Given the description of an element on the screen output the (x, y) to click on. 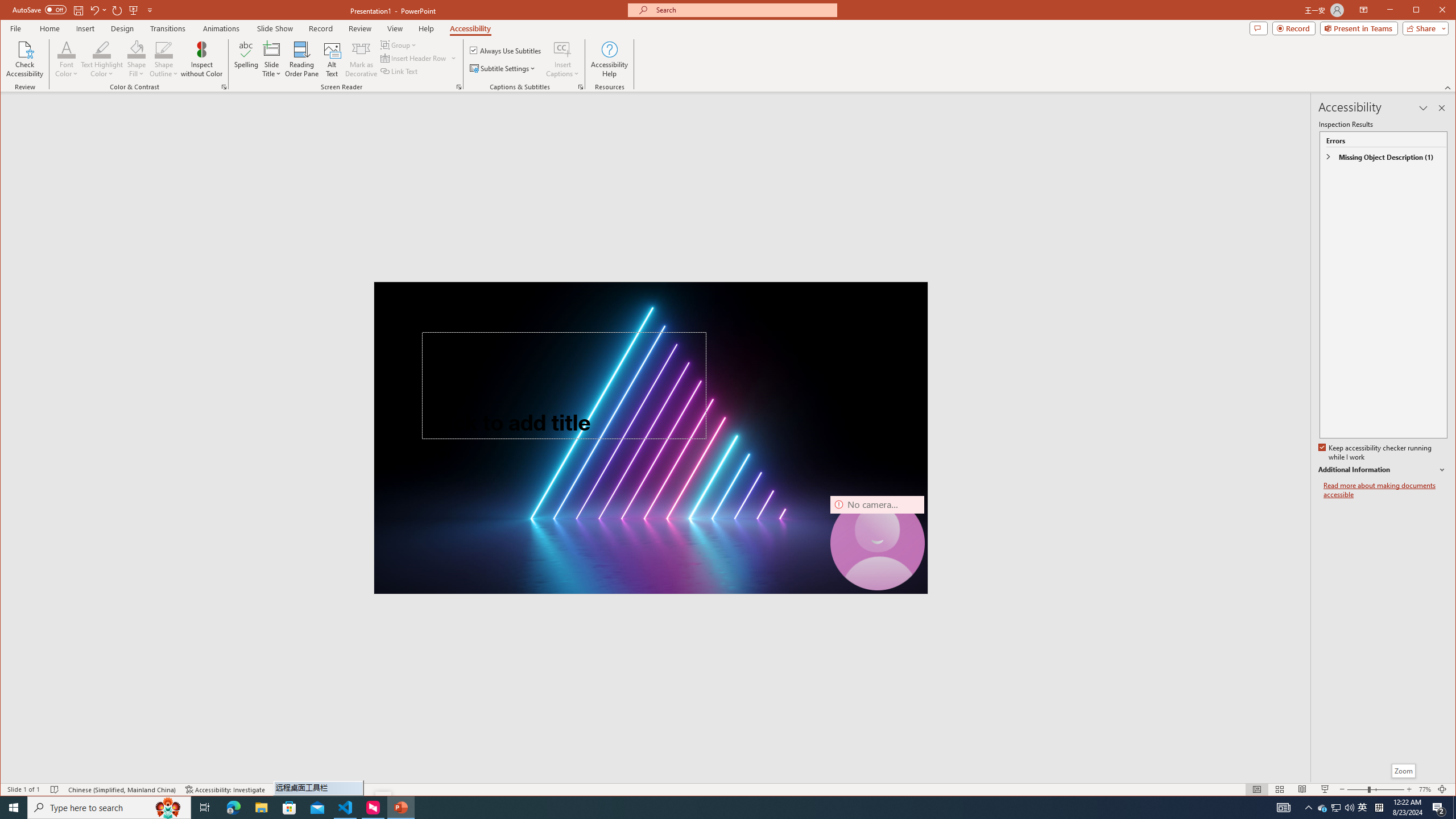
Camera 7, No camera detected. (877, 542)
Neon laser lights aligned to form a triangle (650, 437)
